Given the description of an element on the screen output the (x, y) to click on. 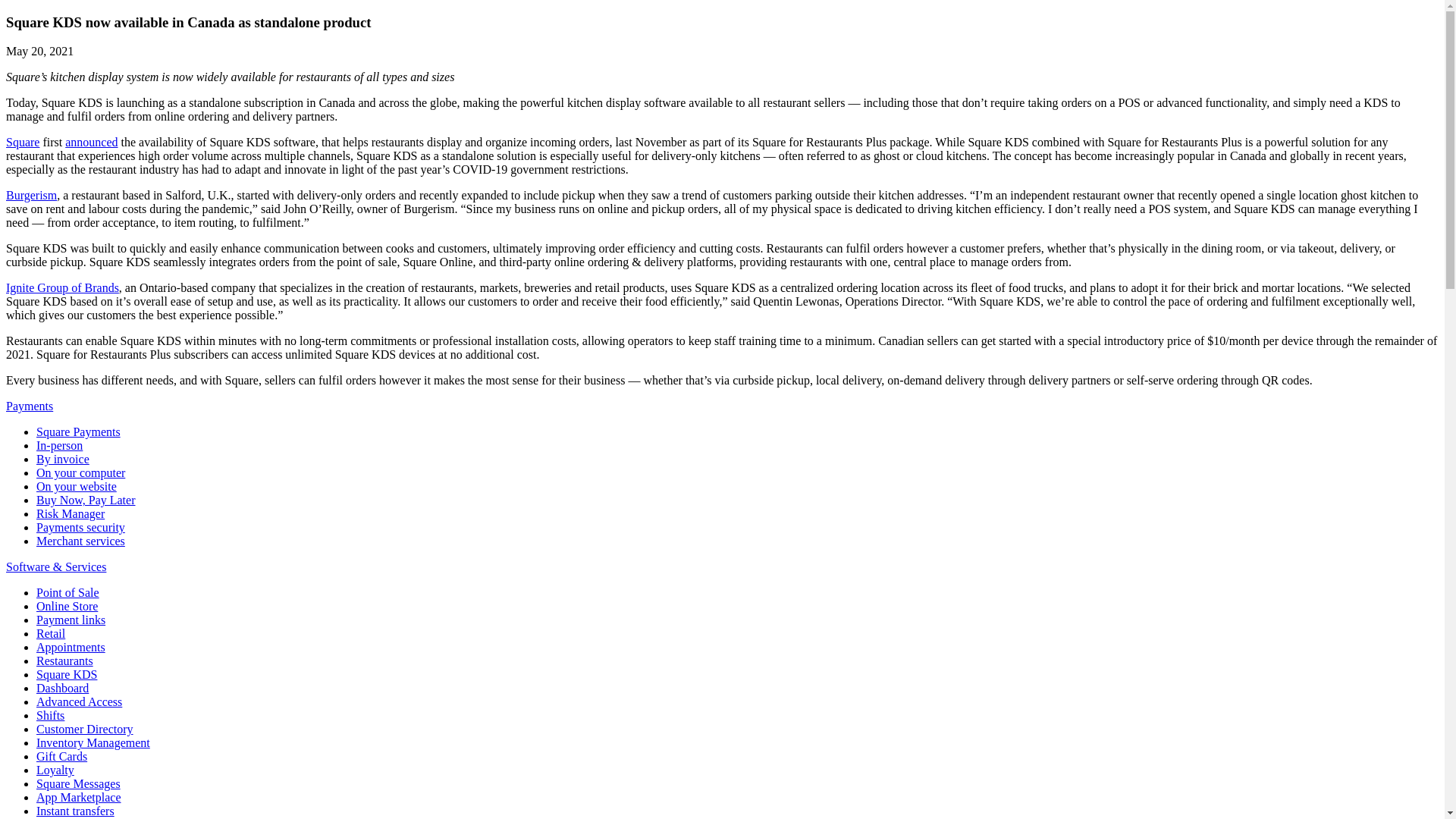
Square Messages (78, 783)
Square Payments (78, 431)
announced (91, 141)
Advanced Access (79, 701)
Square KDS announcement (91, 141)
Appointments (70, 646)
Burgerism (30, 195)
Instant transfers (75, 810)
App Marketplace (78, 797)
Square KDS (66, 674)
Ignite Group of Brands (62, 287)
Payments (28, 405)
Shifts (50, 715)
In-person (59, 445)
Point of Sale (67, 592)
